Given the description of an element on the screen output the (x, y) to click on. 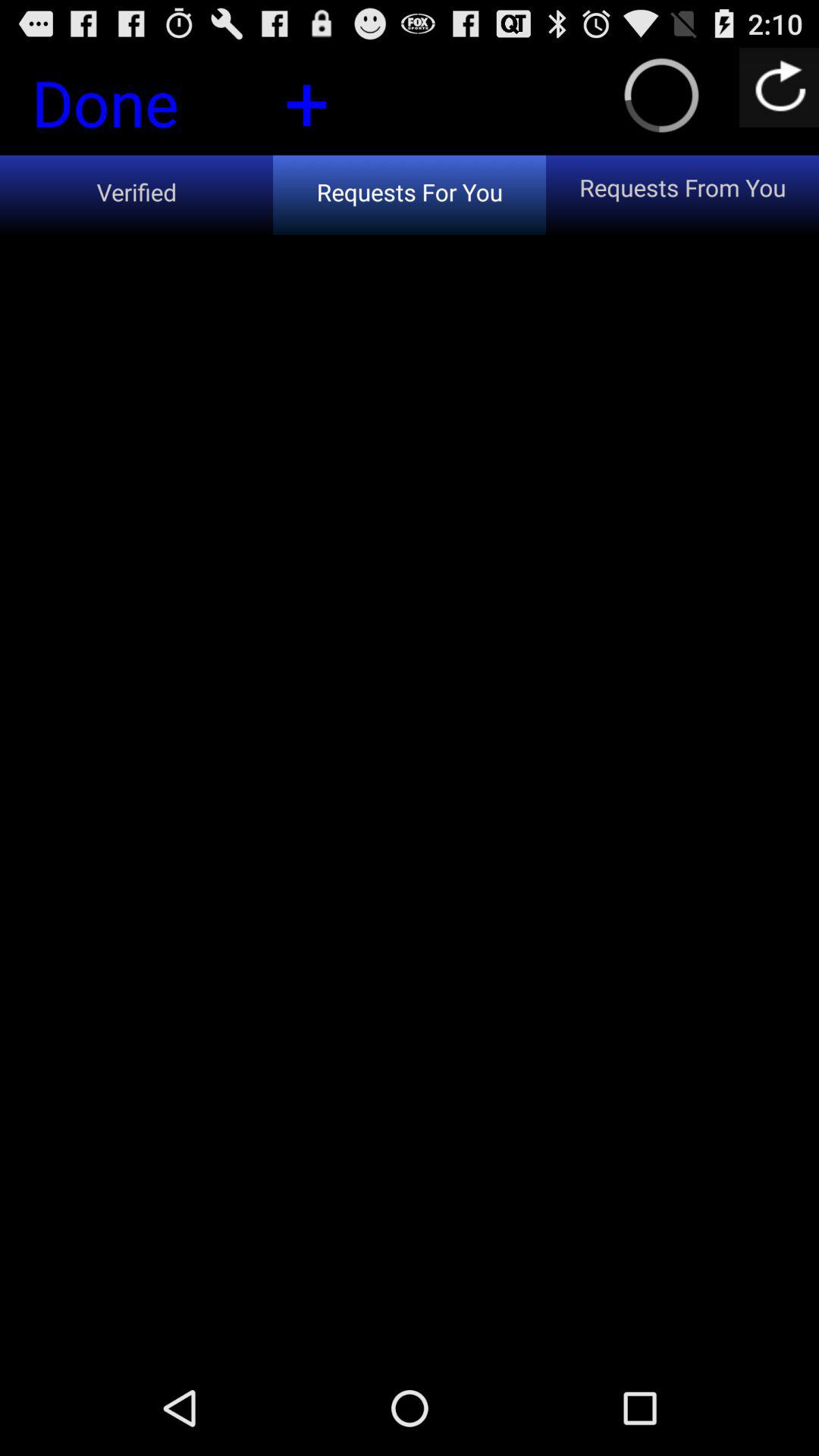
select the button next to the done icon (306, 100)
